Given the description of an element on the screen output the (x, y) to click on. 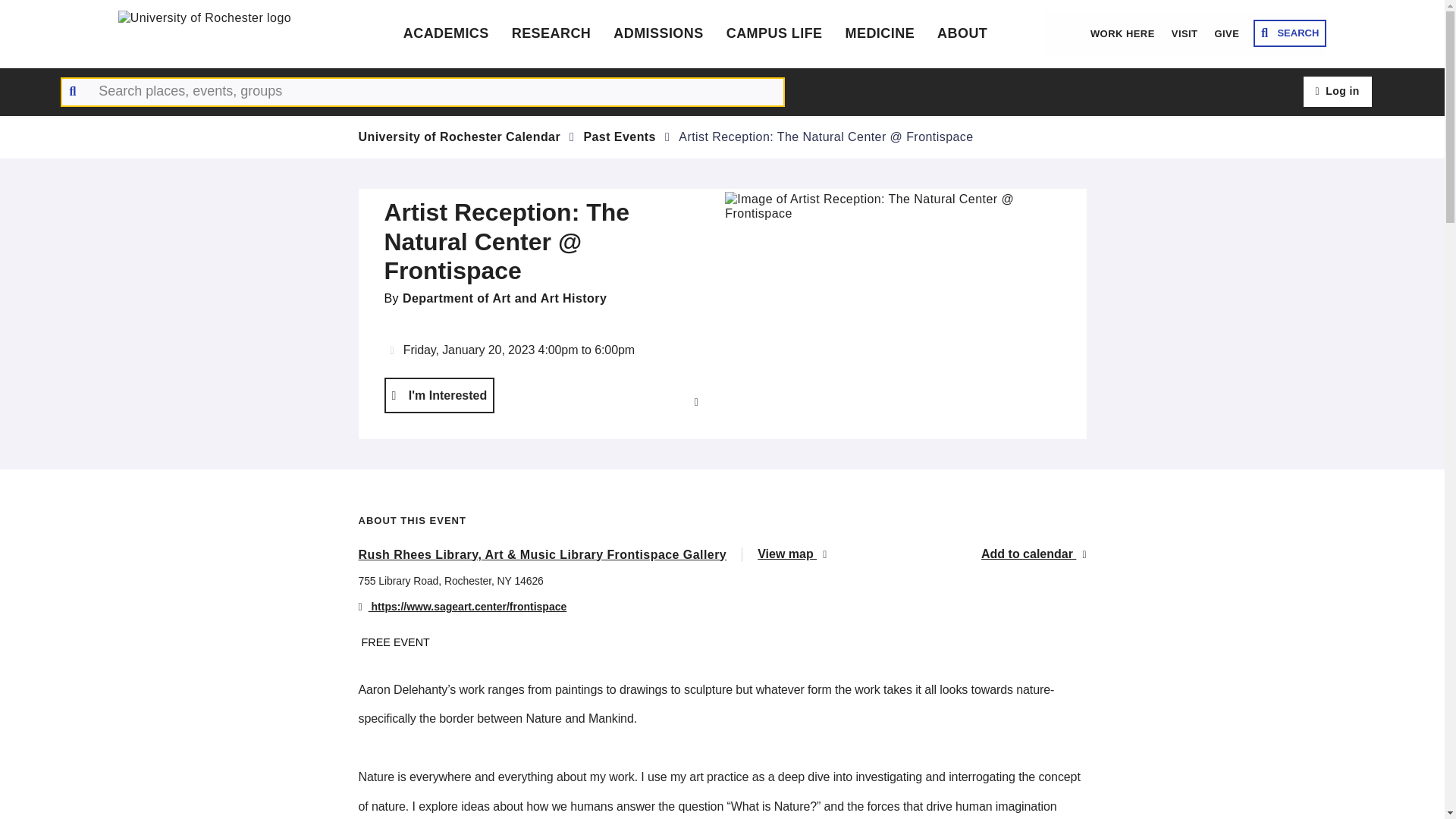
MEDICINE (880, 33)
RESEARCH (551, 33)
GIVE (1226, 33)
ABOUT (962, 33)
VISIT (1185, 33)
University of Rochester Homepage (231, 33)
ADMISSIONS (657, 33)
Department of Art and Art History (505, 297)
University of Rochester Calendar (459, 136)
Past Events (619, 136)
